Given the description of an element on the screen output the (x, y) to click on. 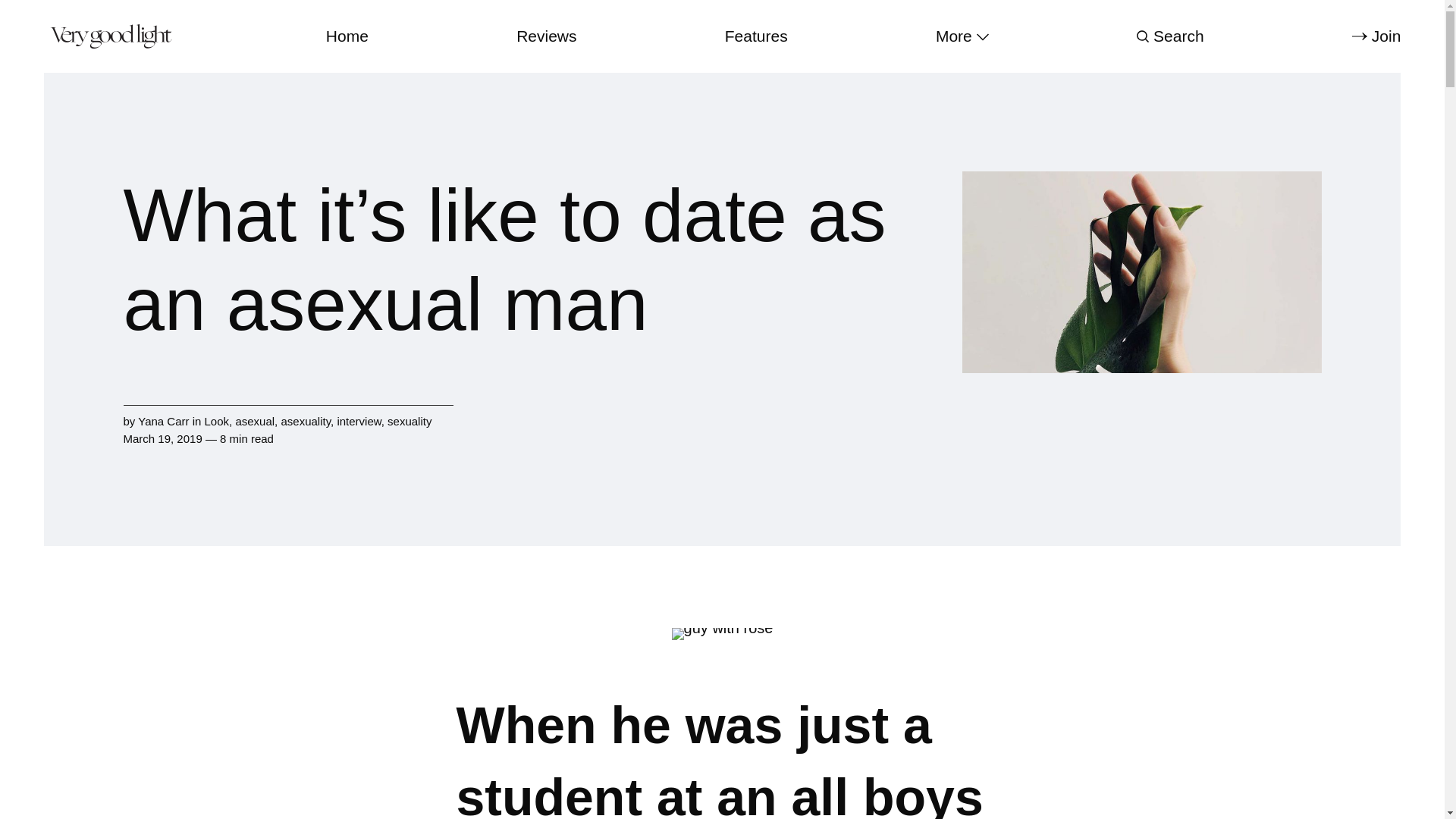
asexuality (305, 420)
asexual (254, 420)
interview (358, 420)
Home (347, 36)
sexuality (408, 420)
Features (756, 36)
Join (1376, 36)
Yana Carr (163, 420)
Look (217, 420)
Reviews (546, 36)
